Given the description of an element on the screen output the (x, y) to click on. 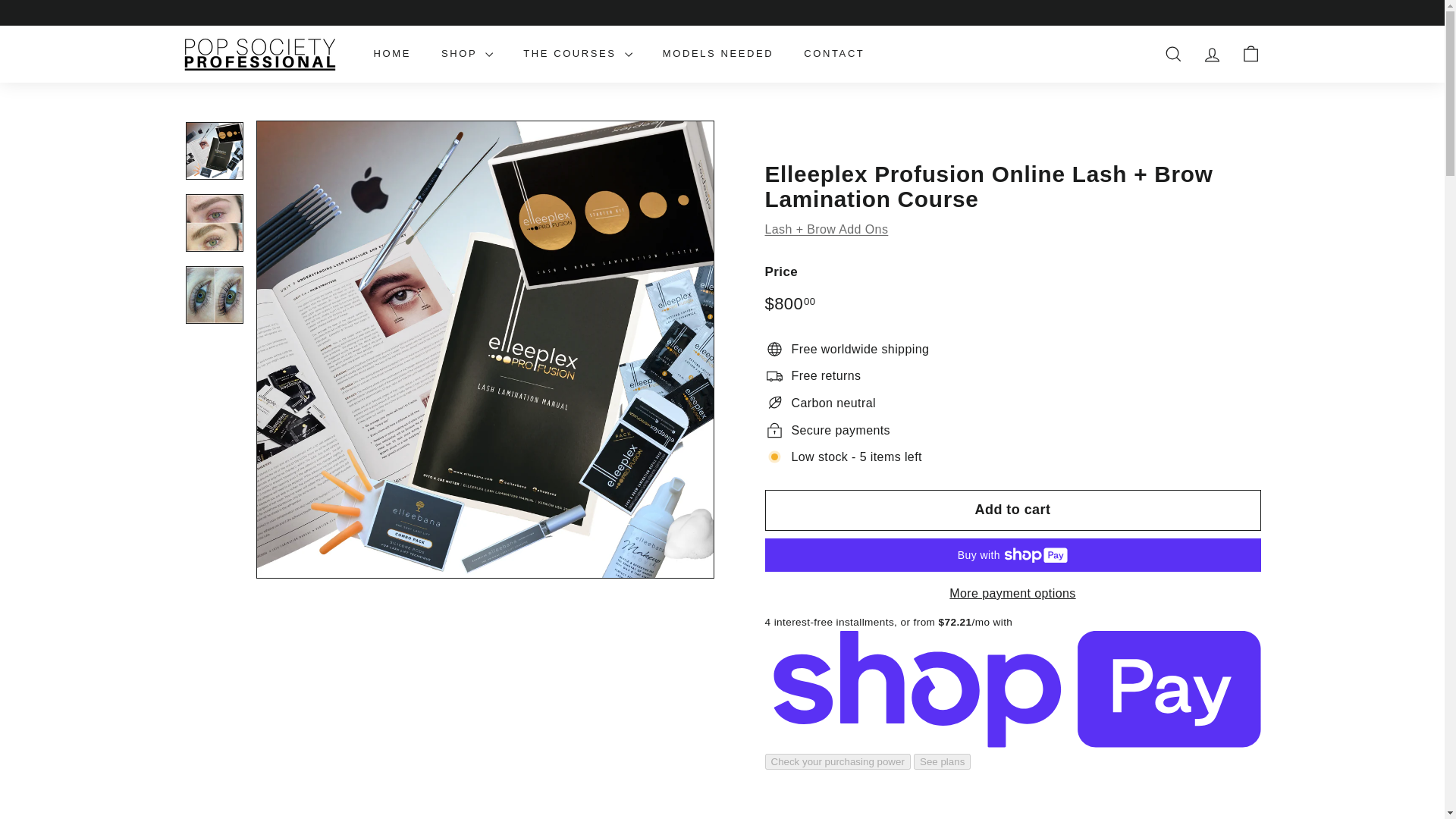
CONTACT (834, 54)
MODELS NEEDED (718, 54)
HOME (391, 54)
